Given the description of an element on the screen output the (x, y) to click on. 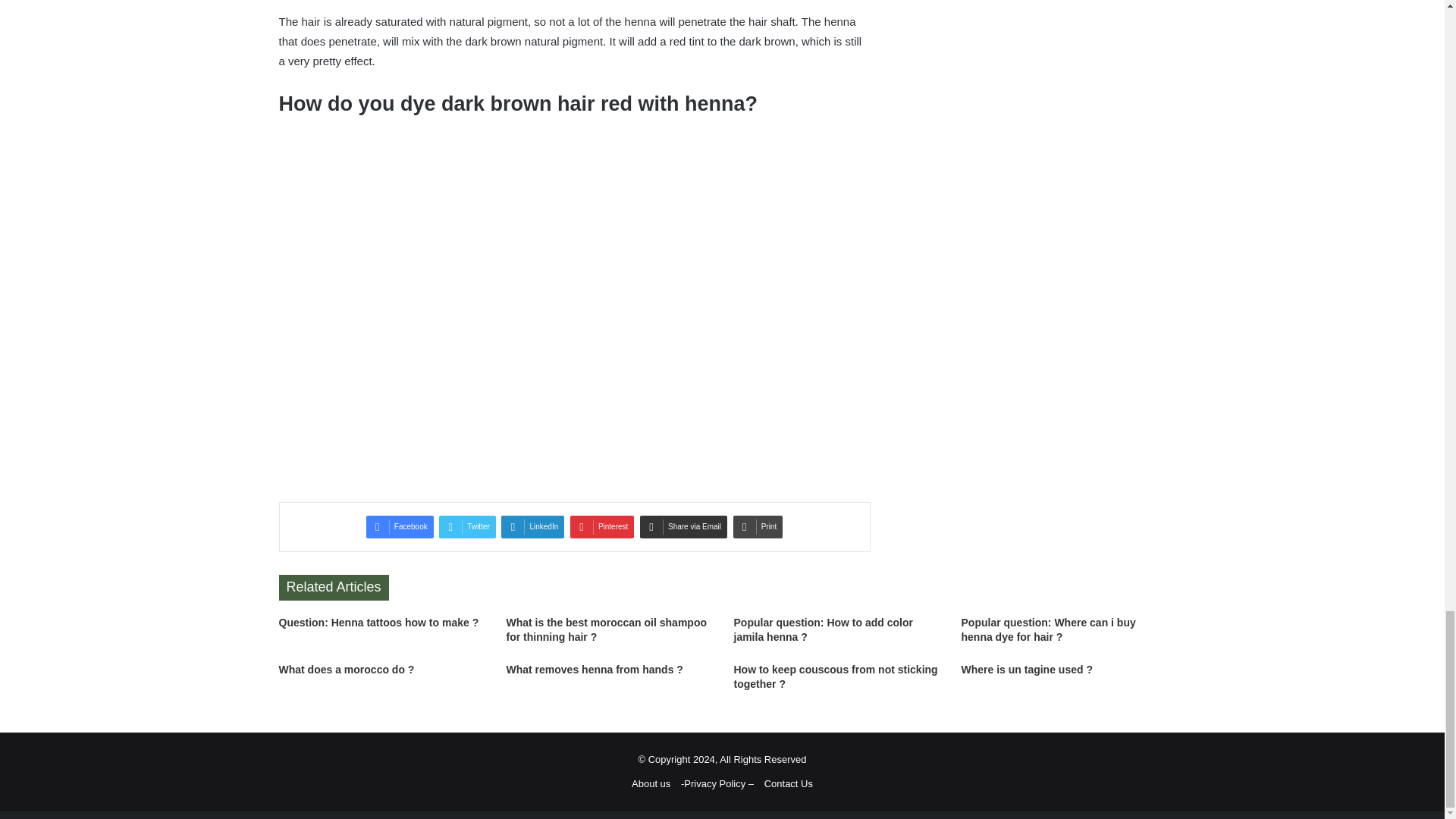
Print (758, 526)
Twitter (467, 526)
Popular question: Where can i buy henna dye for hair ? (1047, 629)
LinkedIn (532, 526)
Share via Email (683, 526)
Facebook (399, 526)
Facebook (399, 526)
Popular question: How to add color jamila henna ? (822, 629)
Question: Henna tattoos how to make ? (379, 622)
Pinterest (601, 526)
Twitter (467, 526)
What is the best moroccan oil shampoo for thinning hair ? (606, 629)
